Given the description of an element on the screen output the (x, y) to click on. 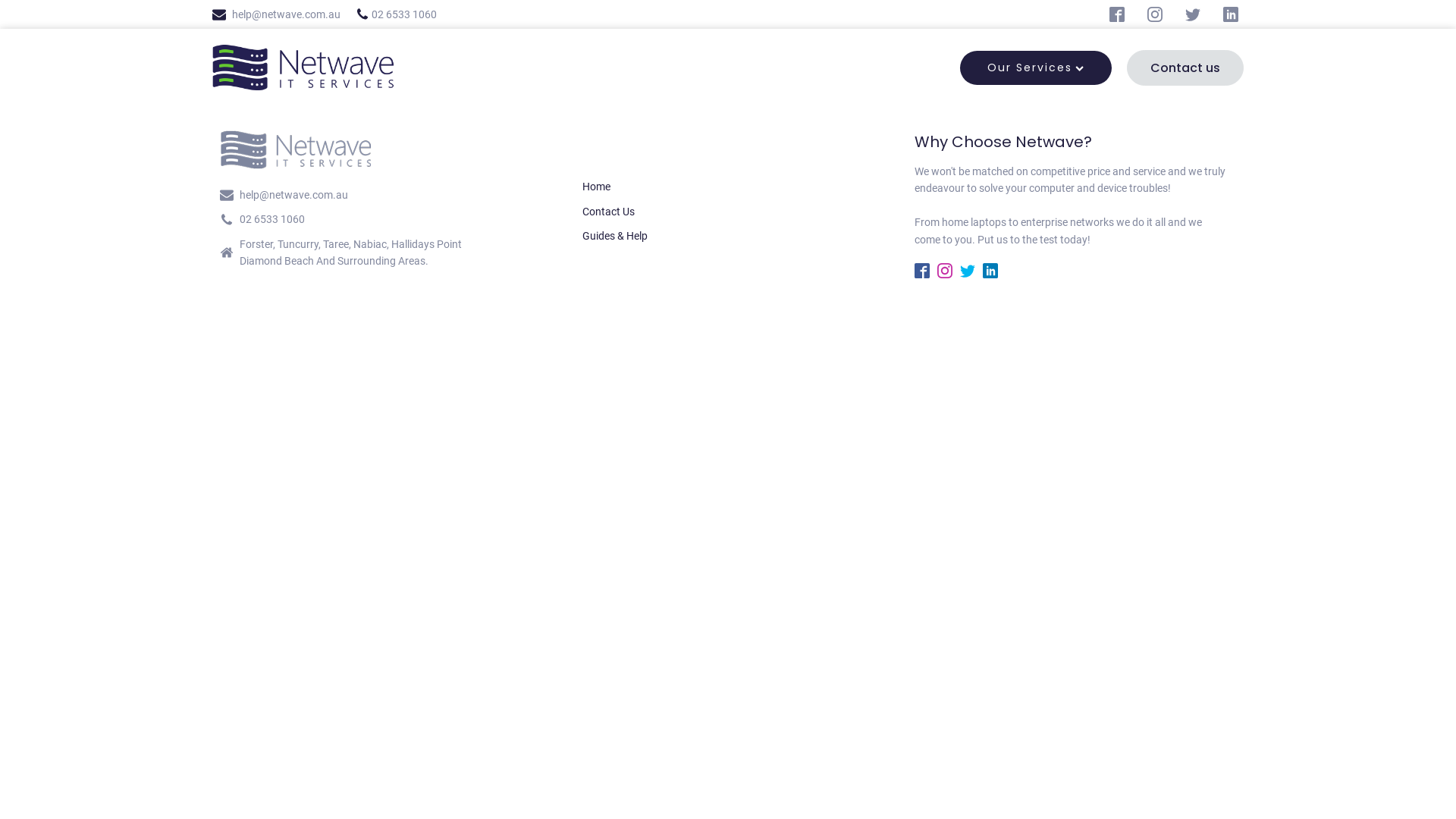
Guides & Help Element type: text (614, 235)
help@netwave.com.au Element type: text (291, 194)
02 6533 1060 Element type: text (269, 218)
02 6533 1060 Element type: text (395, 14)
Our Services Element type: text (1035, 67)
Contact us Element type: text (1184, 68)
help@netwave.com.au Element type: text (283, 14)
Home Element type: text (614, 186)
Contact Us Element type: text (614, 211)
